Given the description of an element on the screen output the (x, y) to click on. 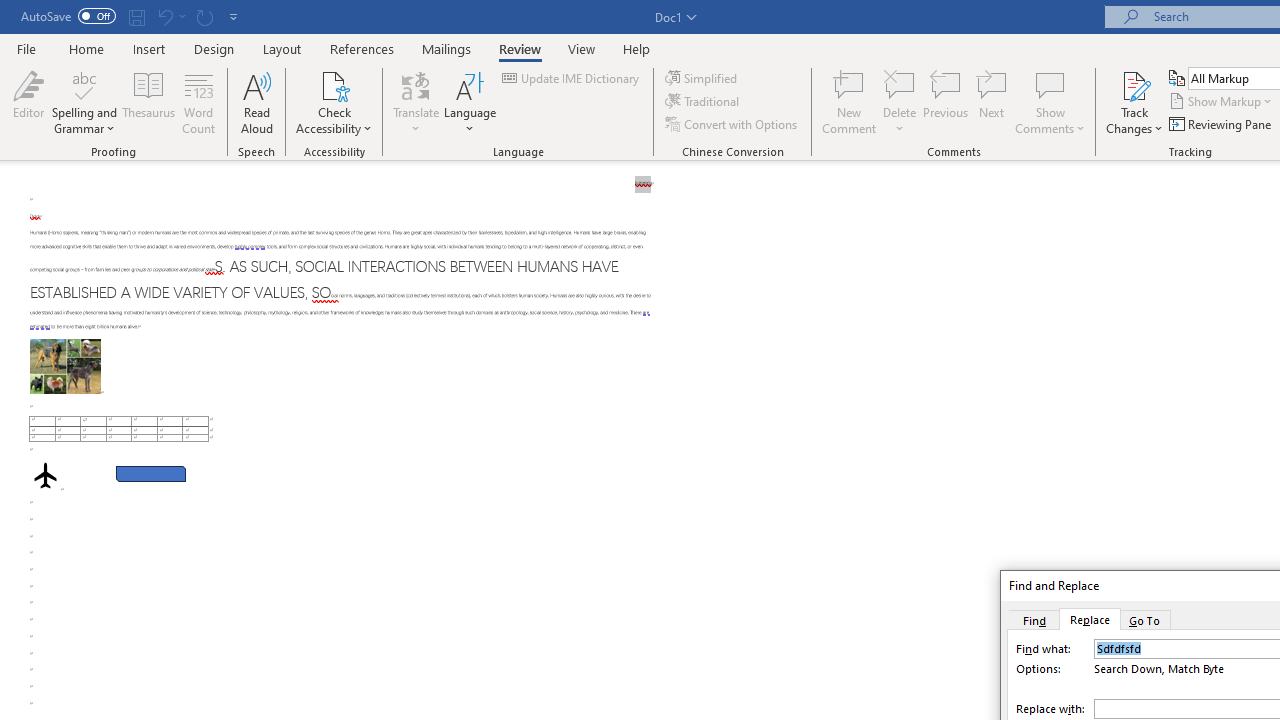
Show Comments (1050, 102)
Track Changes (1134, 102)
Spelling and Grammar (84, 84)
Undo Paragraph Alignment (170, 15)
Language (470, 102)
Rectangle: Diagonal Corners Snipped 2 (150, 473)
Track Changes (1134, 84)
Delete (900, 102)
Previous (946, 102)
Airplane with solid fill (45, 475)
Reviewing Pane (1221, 124)
